Given the description of an element on the screen output the (x, y) to click on. 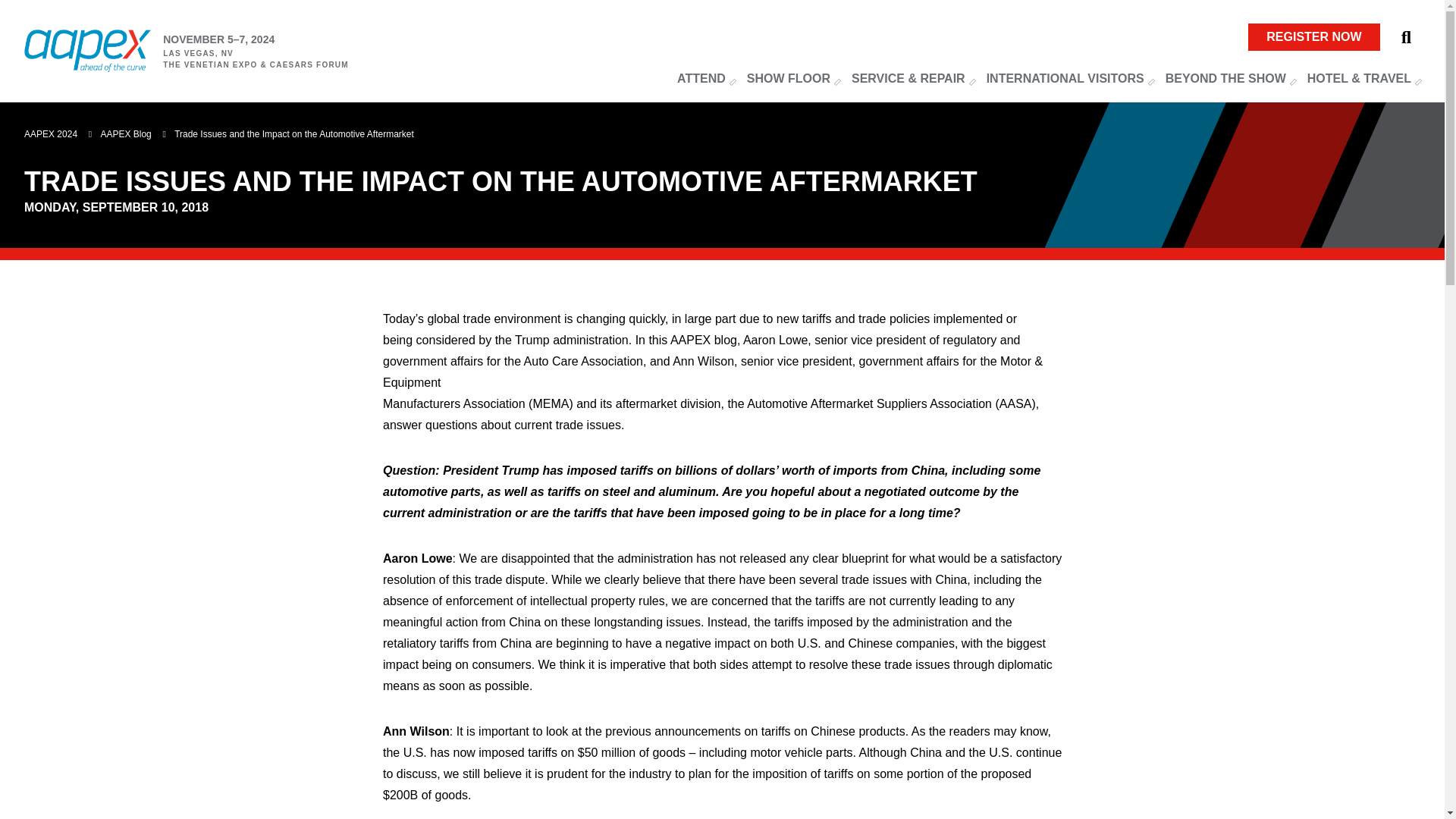
REGISTER NOW (1312, 36)
INTERNATIONAL VISITORS (1070, 75)
AAPEX 2024 (87, 50)
BEYOND THE SHOW (1230, 77)
